Given the description of an element on the screen output the (x, y) to click on. 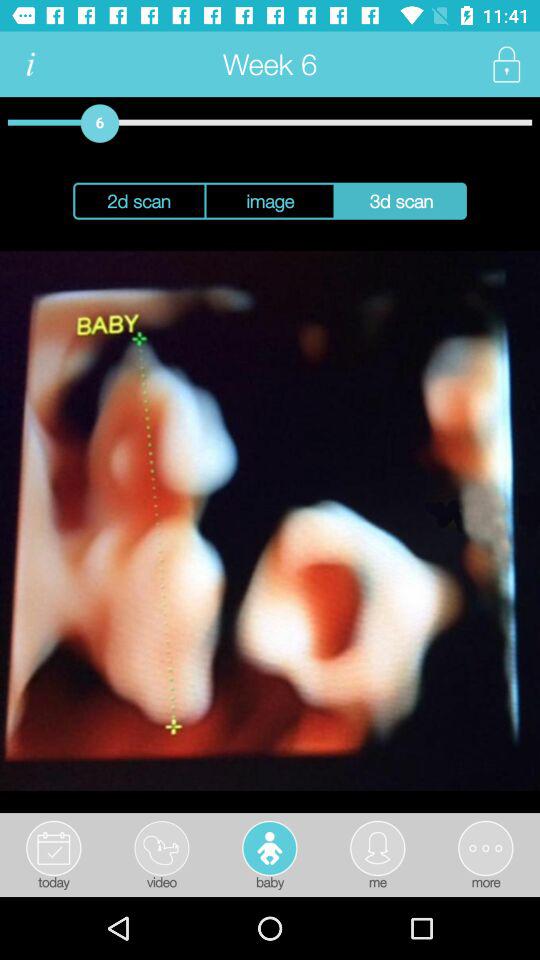
press the icon to the left of the image item (138, 200)
